Given the description of an element on the screen output the (x, y) to click on. 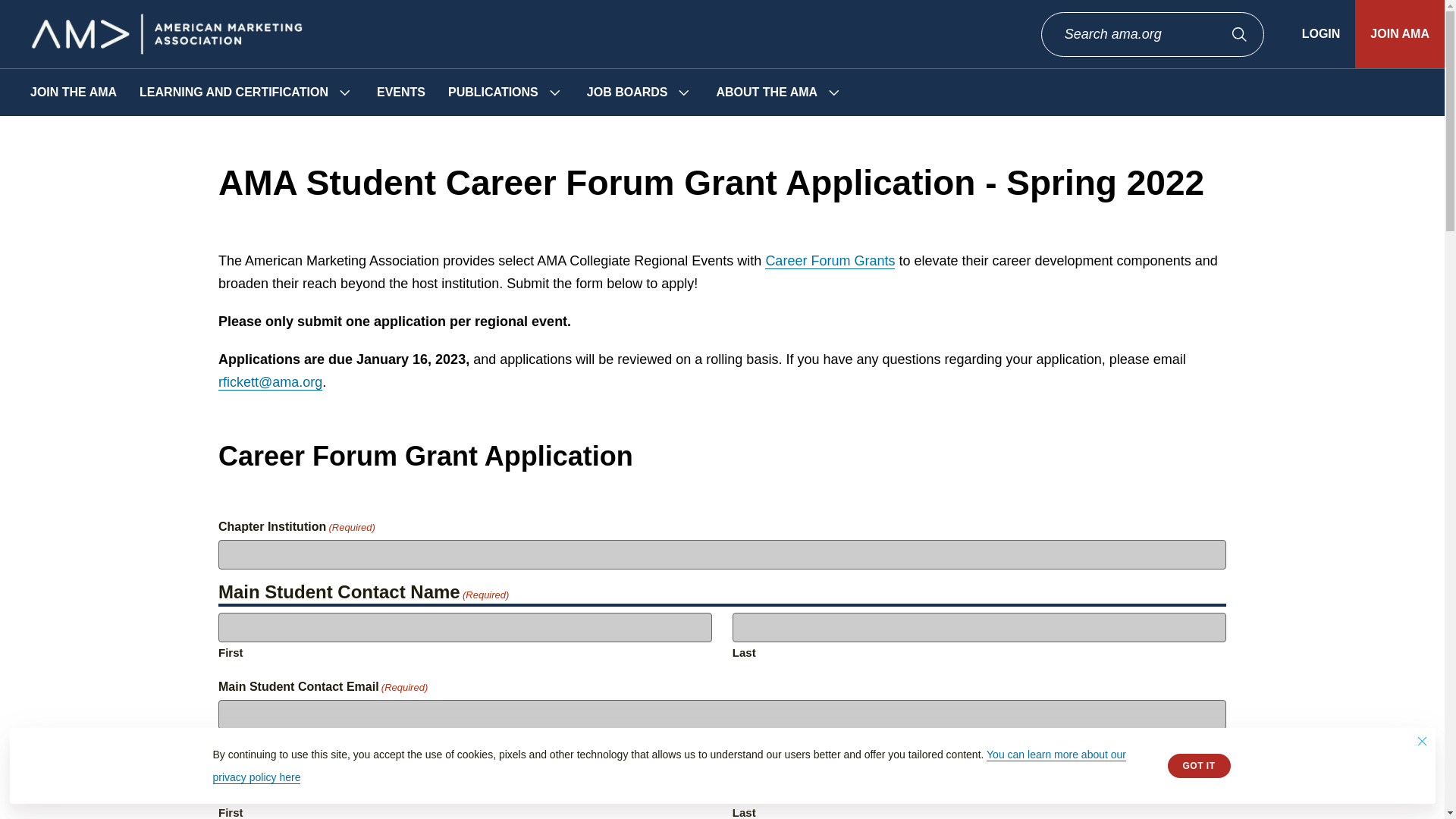
Career Forum Grants (830, 261)
PUBLICATIONS (493, 92)
JOB BOARDS (627, 92)
LEARNING AND CERTIFICATION (234, 92)
JOIN THE AMA (73, 92)
EVENTS (401, 92)
ABOUT THE AMA (766, 92)
LOGIN (1321, 33)
